Given the description of an element on the screen output the (x, y) to click on. 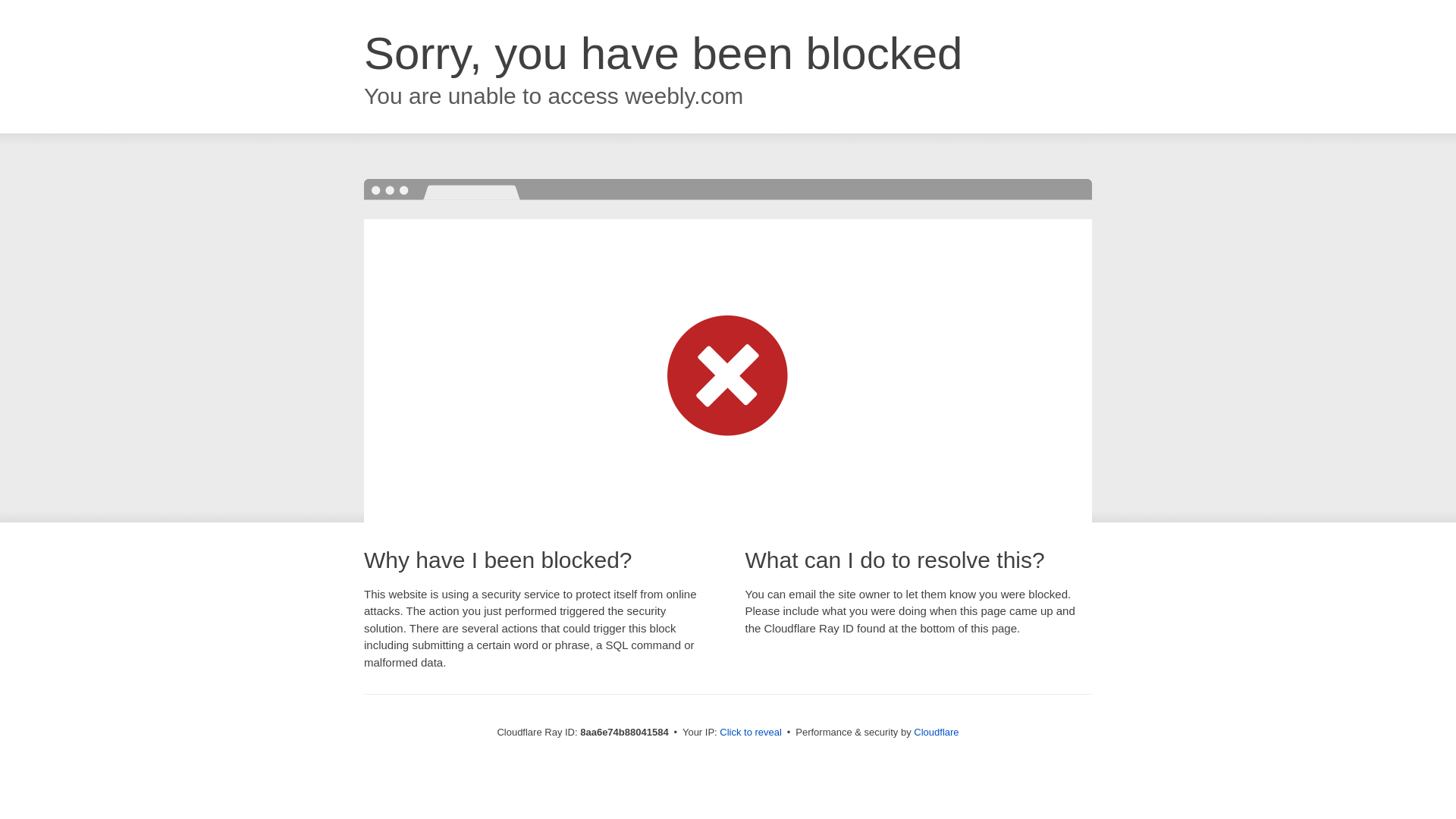
Click to reveal (750, 732)
Cloudflare (936, 731)
